Given the description of an element on the screen output the (x, y) to click on. 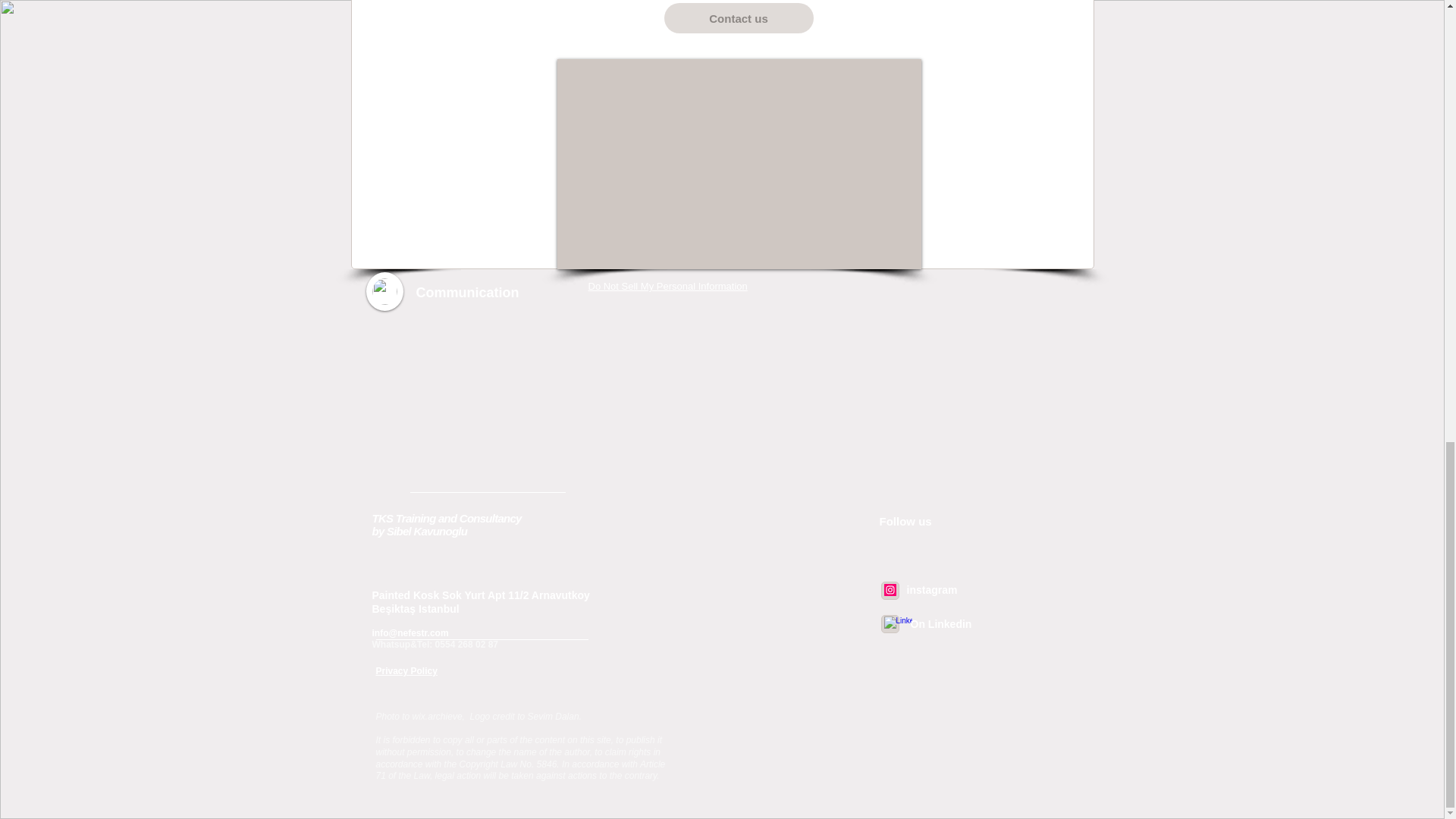
External YouTube (738, 163)
Do Not Sell My Personal Information (668, 286)
Contact us (738, 18)
